Given the description of an element on the screen output the (x, y) to click on. 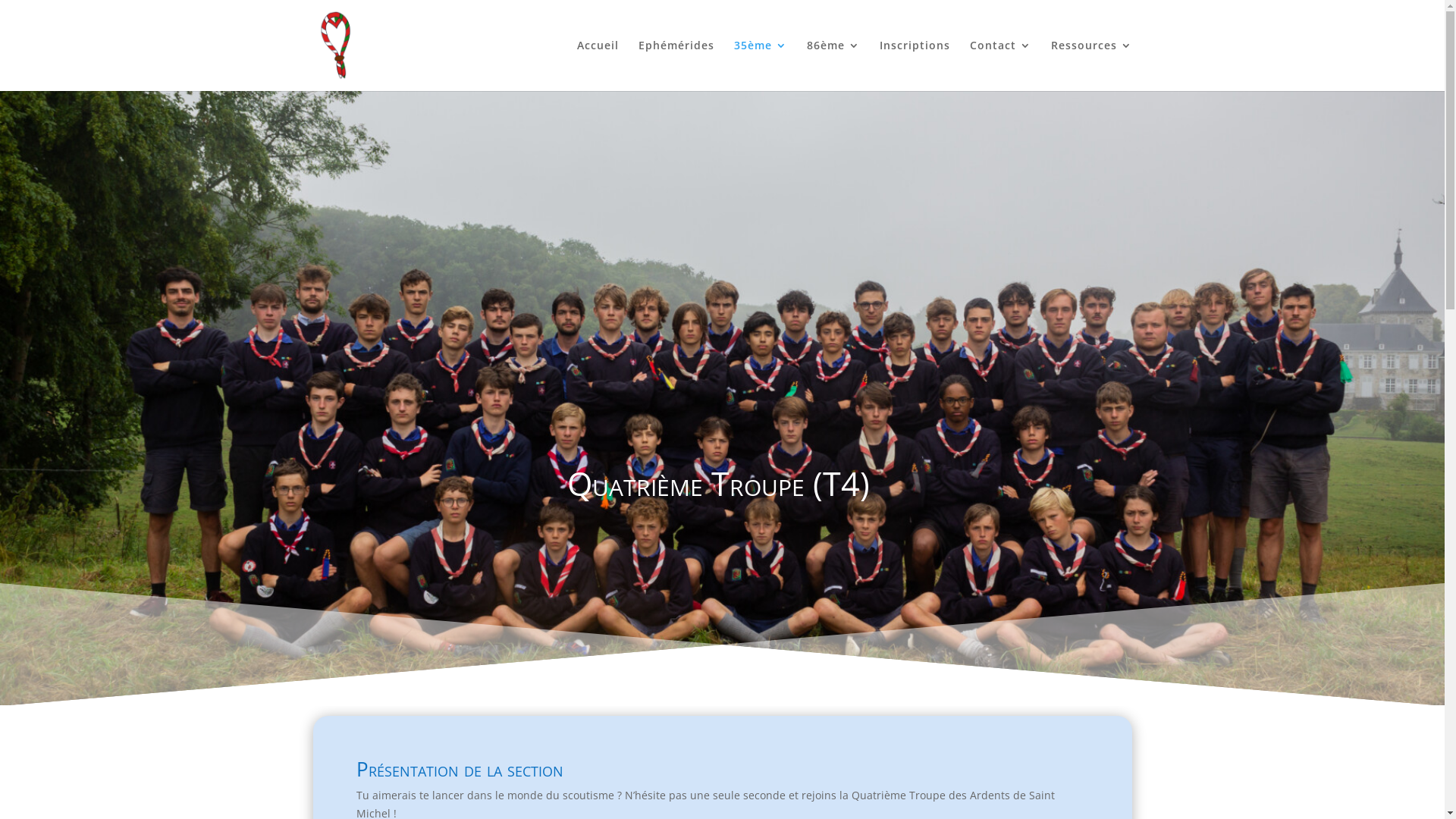
Accueil Element type: text (597, 65)
Ressources Element type: text (1091, 65)
Inscriptions Element type: text (914, 65)
Contact Element type: text (999, 65)
